Given the description of an element on the screen output the (x, y) to click on. 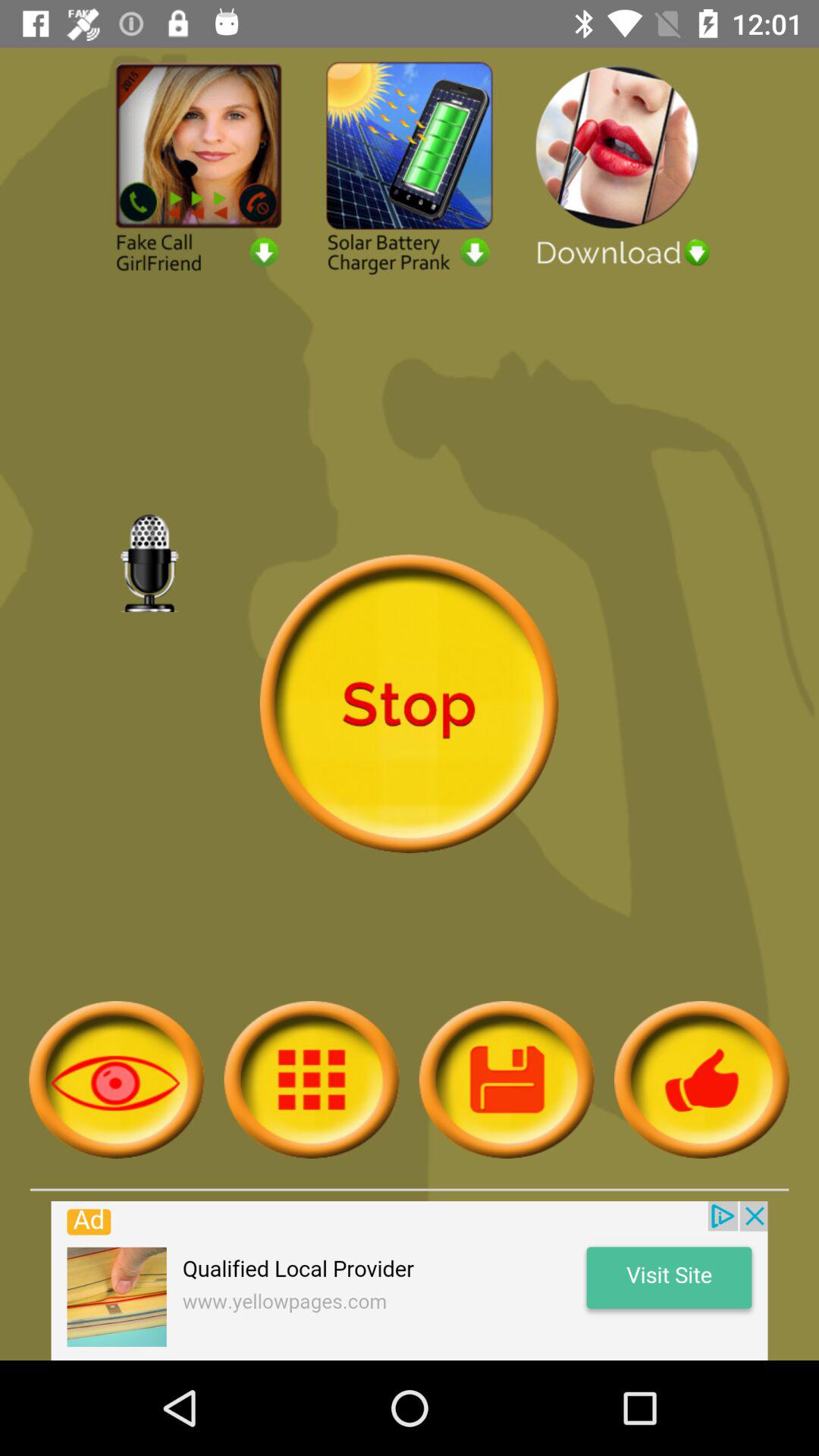
modify voice using solar battery changer prank option (409, 166)
